Given the description of an element on the screen output the (x, y) to click on. 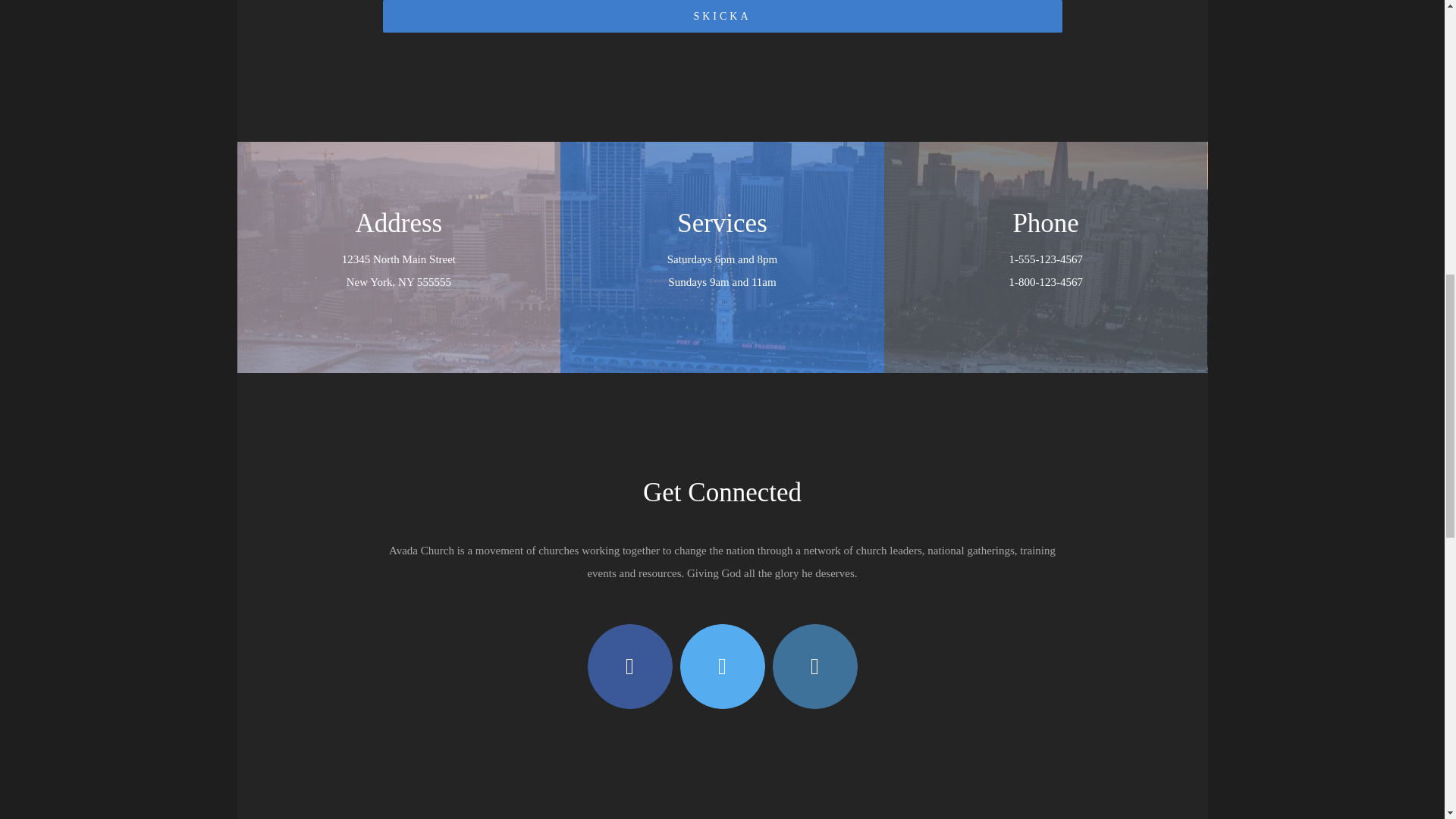
Skicka (721, 16)
Skicka (721, 16)
